Given the description of an element on the screen output the (x, y) to click on. 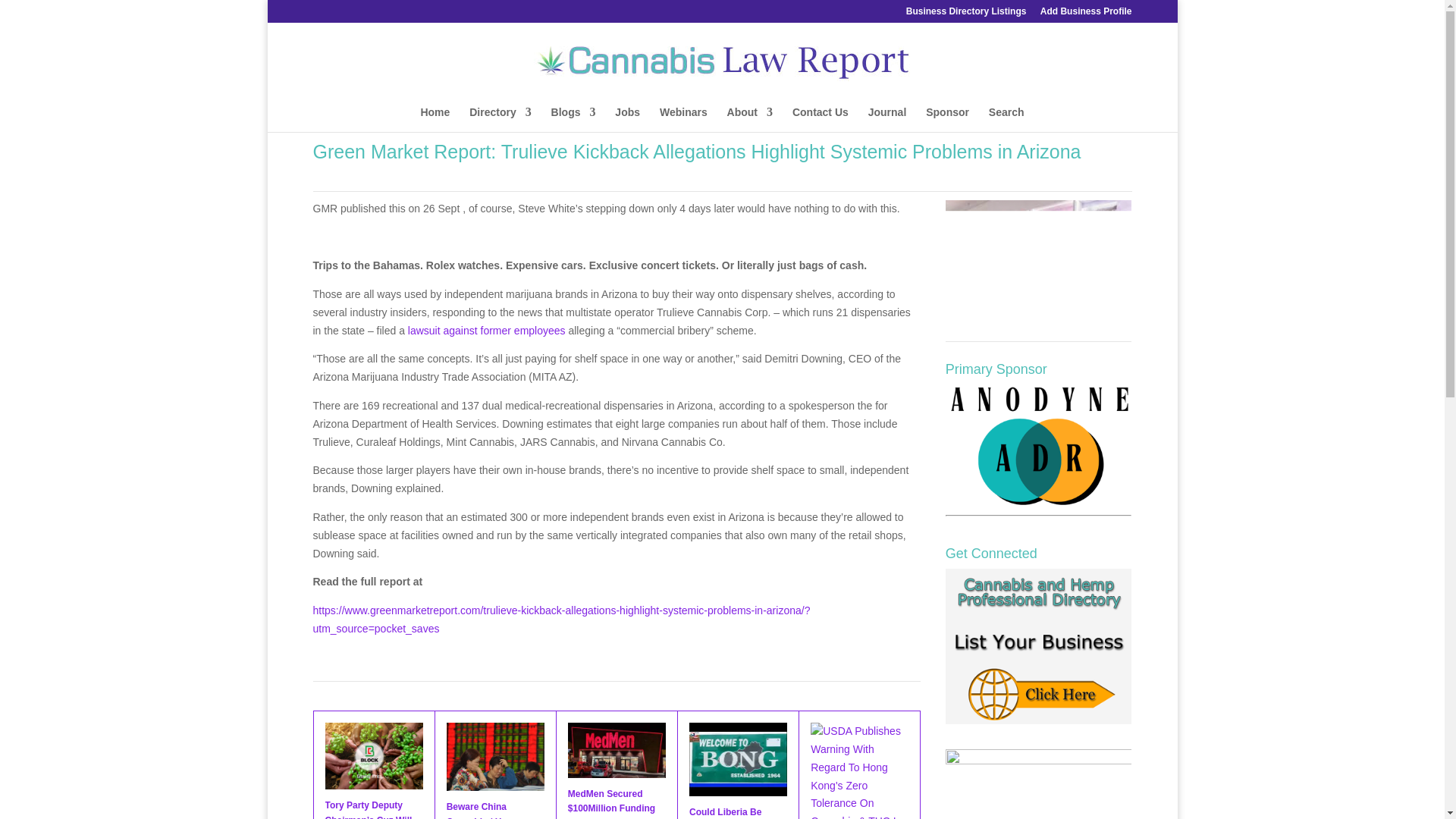
Directory (499, 119)
Business Directory Listings (965, 14)
Screenshot 2023-10-07 at 7.52.18 am (1038, 259)
Add Business Profile (1086, 14)
Blogs (573, 119)
Home (434, 119)
